Given the description of an element on the screen output the (x, y) to click on. 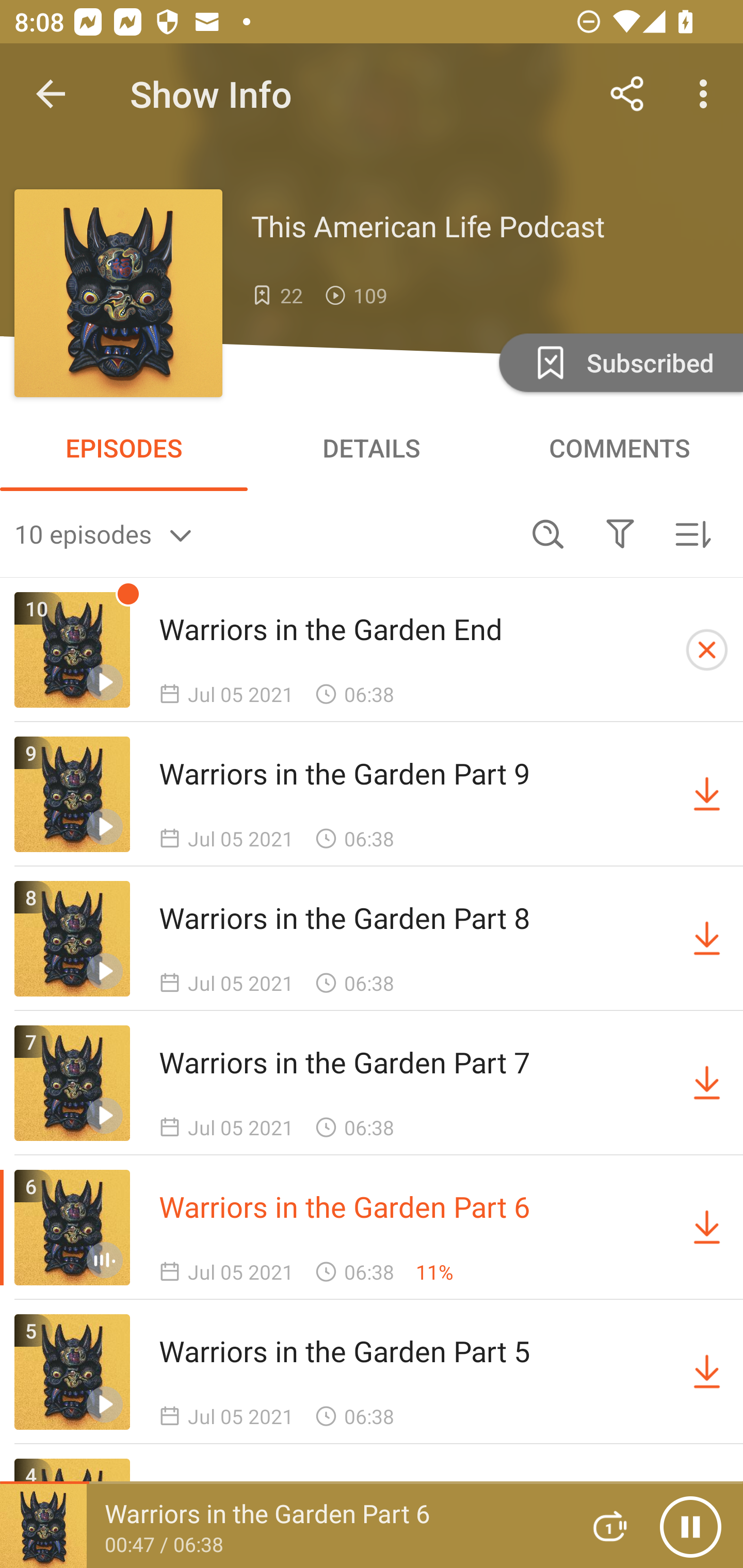
Navigate up (50, 93)
Share (626, 93)
More options (706, 93)
Unsubscribe Subscribed (619, 361)
EPISODES (123, 447)
DETAILS (371, 447)
COMMENTS (619, 447)
10 episodes  (262, 533)
 Search (547, 533)
 (619, 533)
 Sorted by newest first (692, 533)
Cancel Downloading (706, 649)
Download (706, 793)
Download (706, 939)
Download (706, 1083)
Download (706, 1227)
Download (706, 1371)
Warriors in the Garden Part 6 00:47 / 06:38 (283, 1525)
Pause (690, 1526)
